Given the description of an element on the screen output the (x, y) to click on. 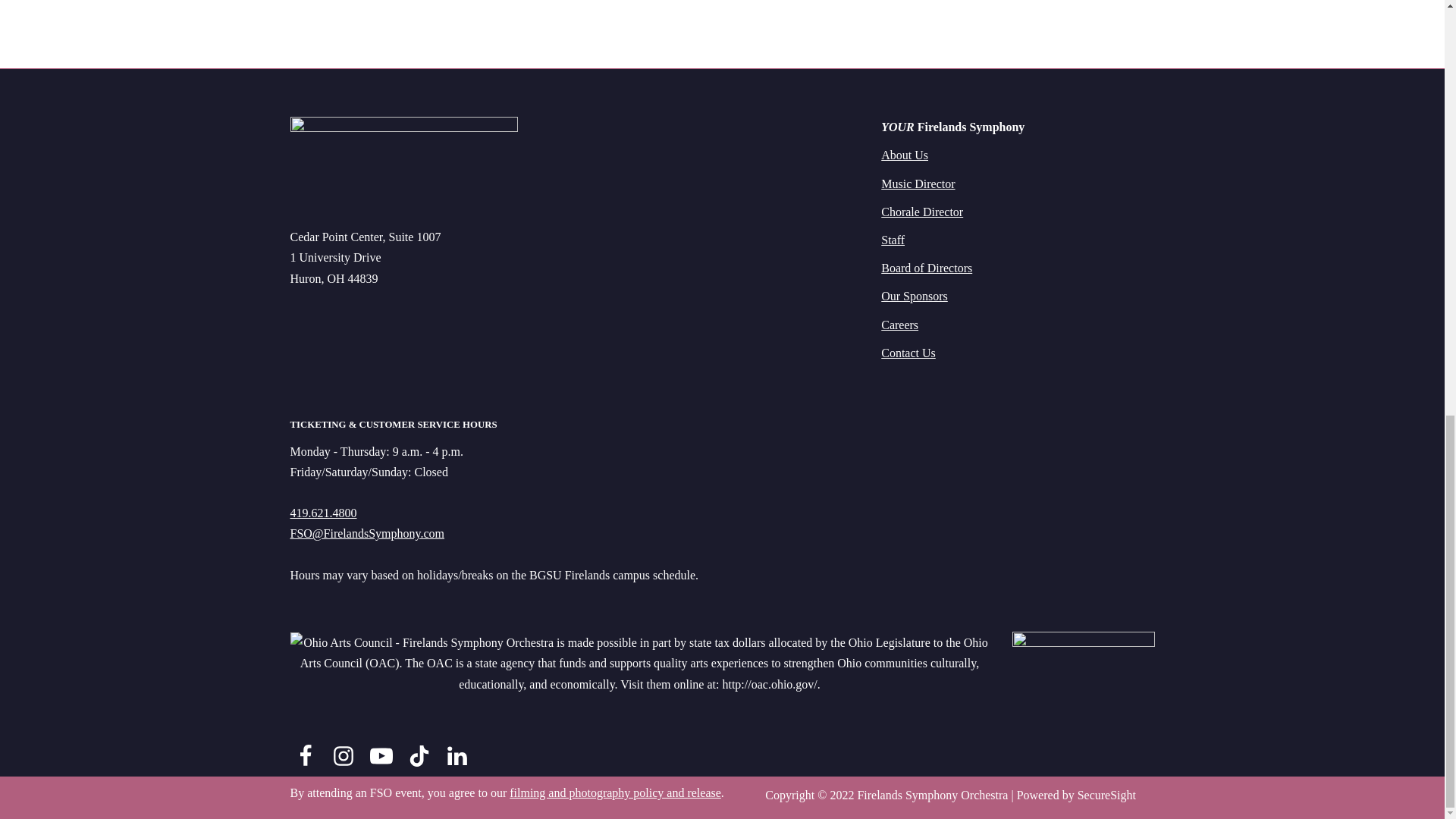
TikTok (418, 755)
Youtube (380, 755)
Instagram (342, 755)
LinkedIn (456, 755)
Facebook (304, 755)
